Given the description of an element on the screen output the (x, y) to click on. 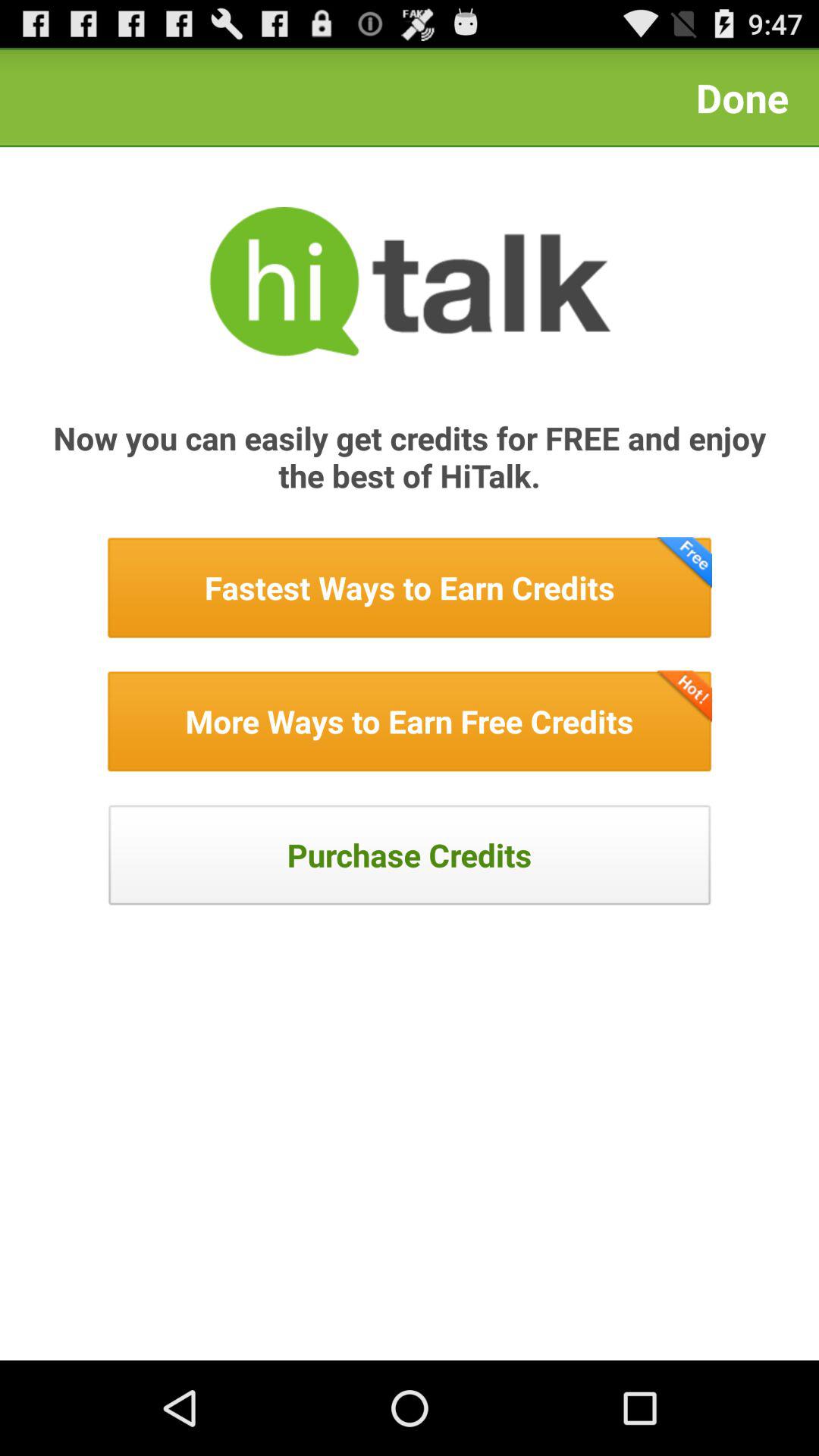
fastest way to earn credits (409, 587)
